Given the description of an element on the screen output the (x, y) to click on. 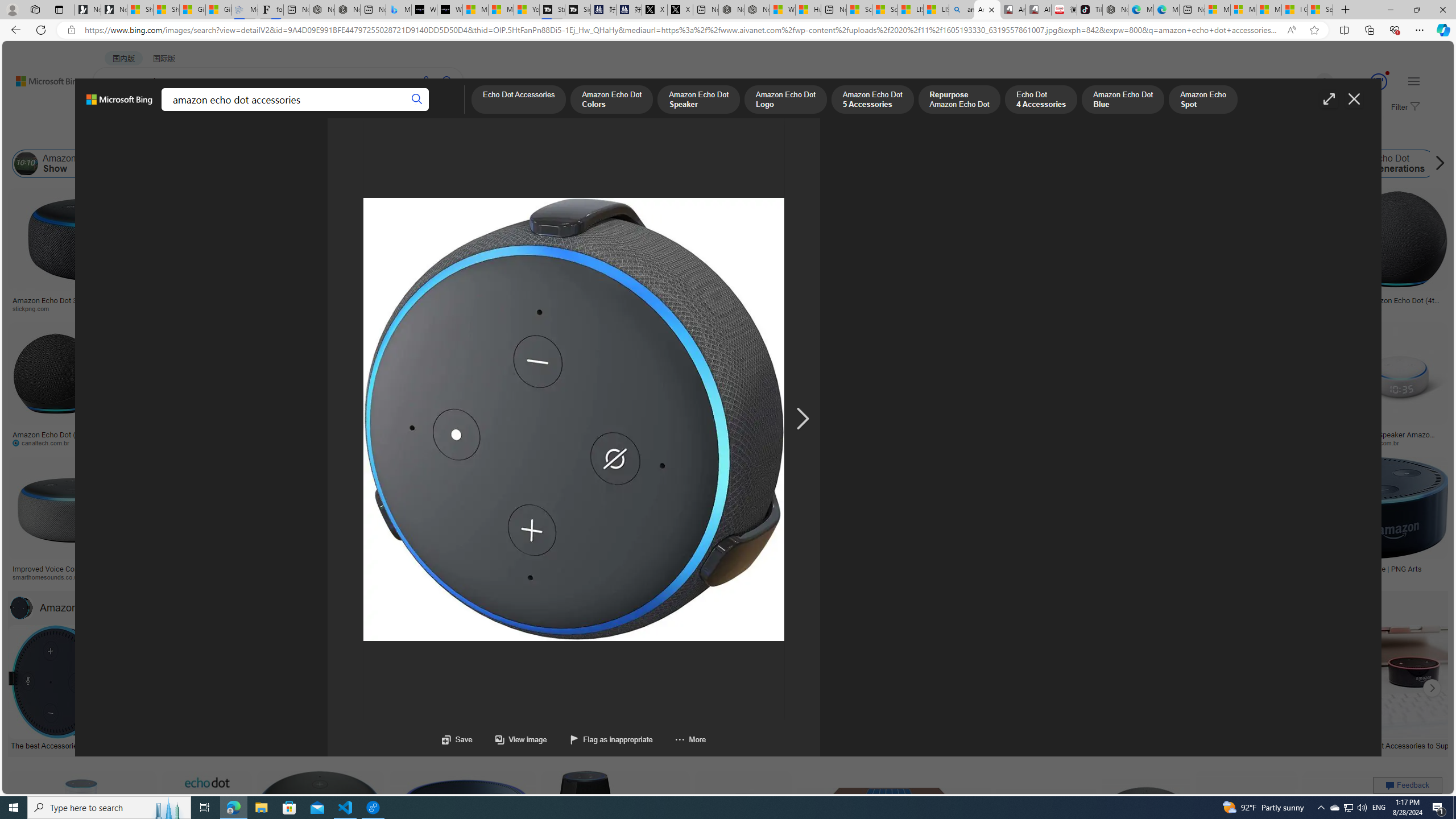
buynow.com.ec (635, 442)
skroutz.gr (932, 576)
Amazon Alexa Echo (161, 163)
